Given the description of an element on the screen output the (x, y) to click on. 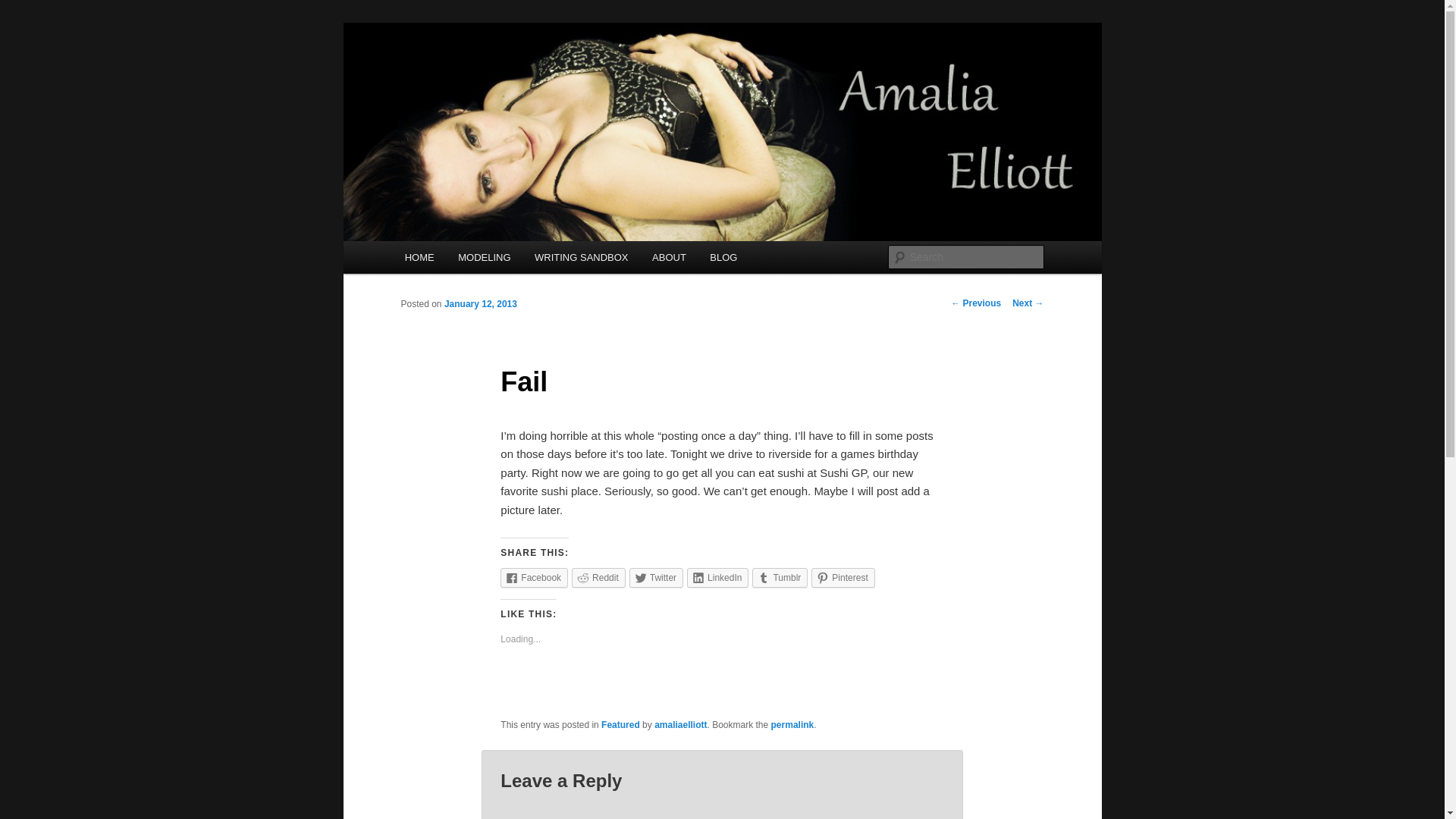
LinkedIn (717, 578)
Tumblr (780, 578)
Twitter (655, 578)
WRITING SANDBOX (581, 256)
Click to share on Reddit (599, 578)
permalink (792, 724)
Click to share on Tumblr (780, 578)
Click to share on LinkedIn (717, 578)
ABOUT (668, 256)
Click to share on Pinterest (842, 578)
Click to share on Twitter (655, 578)
amaliaelliott (679, 724)
4:25 pm (480, 303)
Comment Form (721, 806)
Facebook (533, 578)
